Given the description of an element on the screen output the (x, y) to click on. 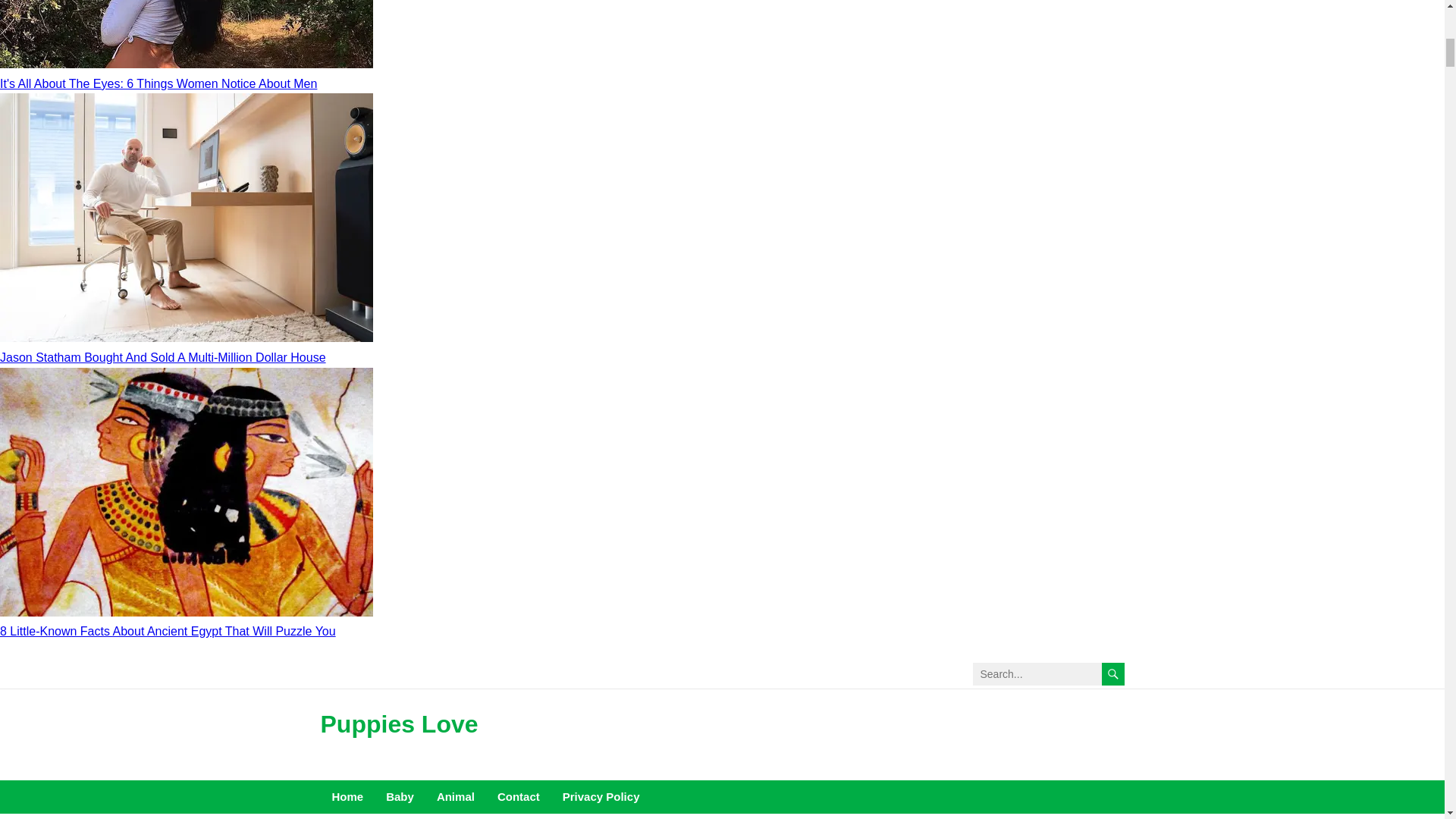
Privacy Policy (600, 797)
Animal (455, 797)
Puppies Love (398, 723)
Contact (518, 797)
Home (347, 797)
Baby (399, 797)
